Given the description of an element on the screen output the (x, y) to click on. 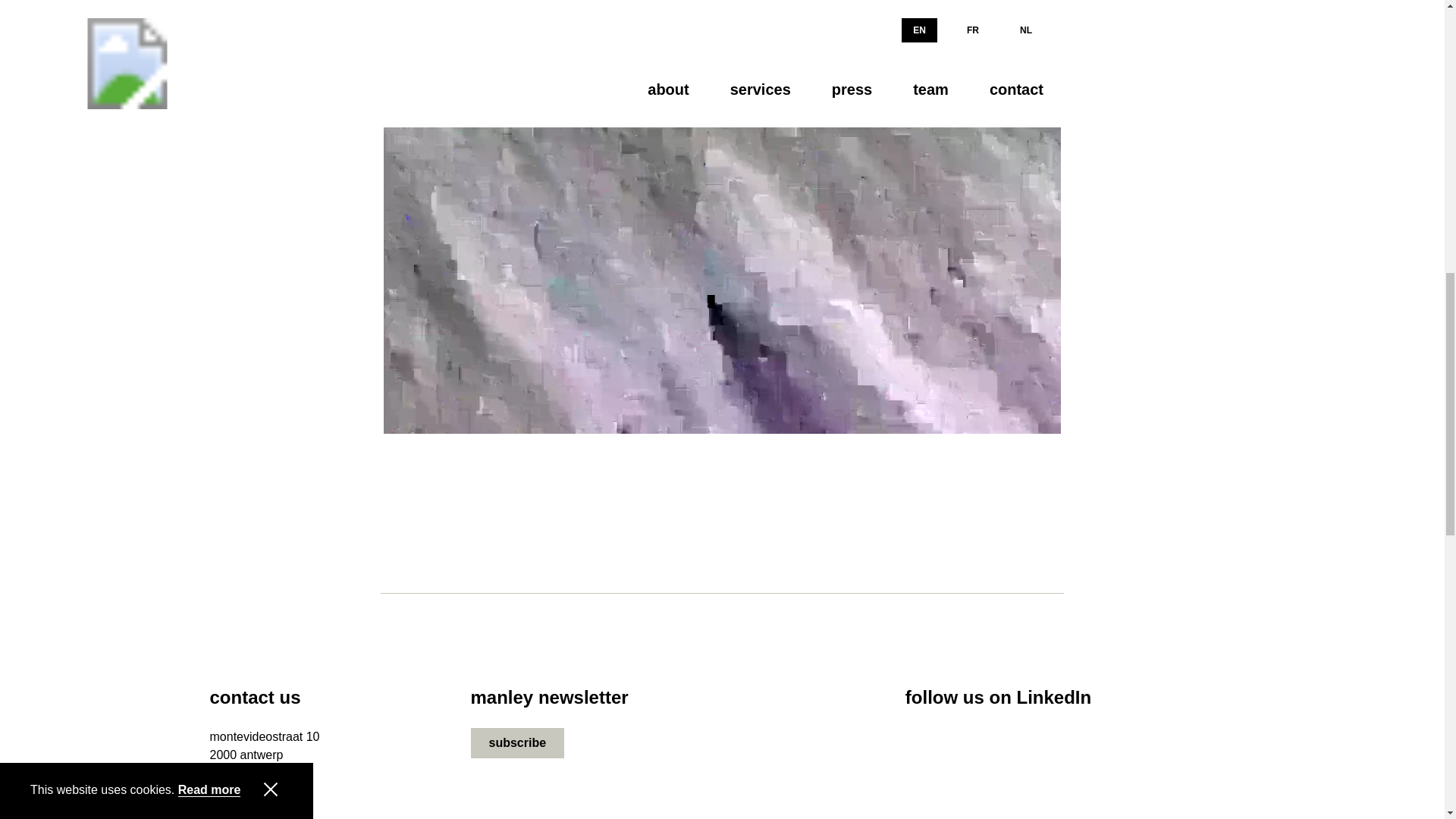
Embedded post (263, 745)
subscribe (1096, 773)
